Given the description of an element on the screen output the (x, y) to click on. 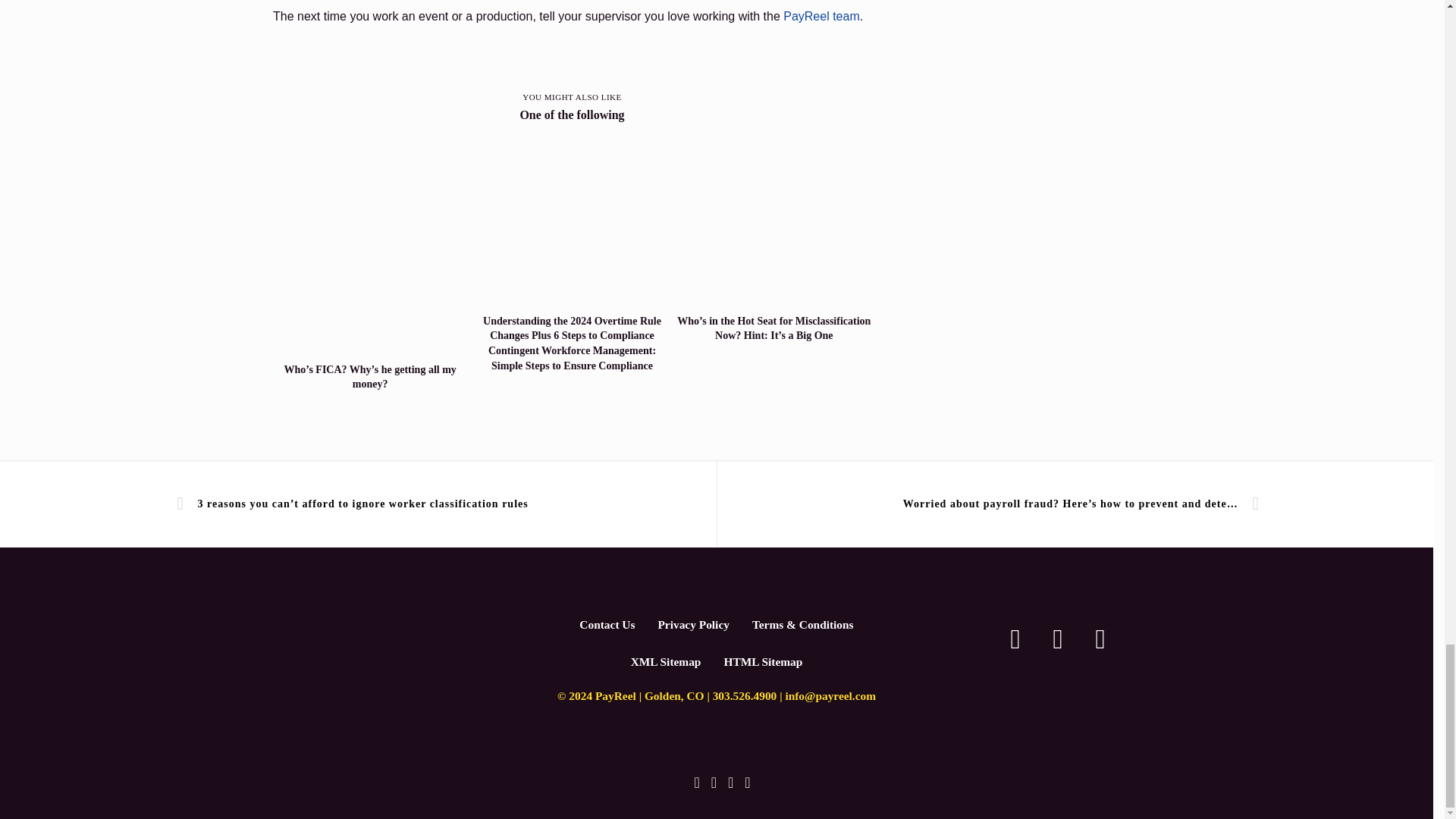
PayReel team (821, 15)
